Given the description of an element on the screen output the (x, y) to click on. 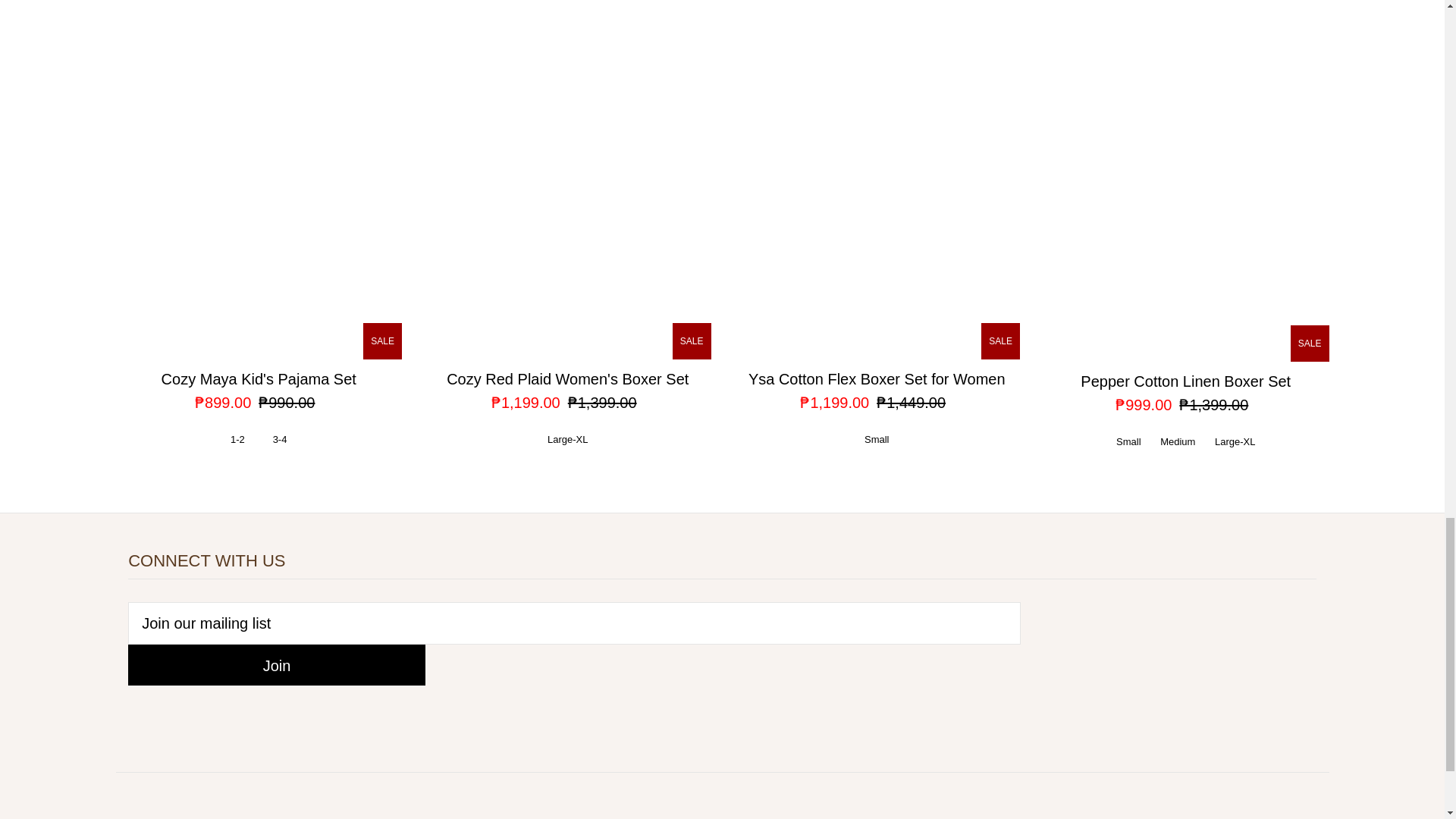
Join (276, 664)
